Given the description of an element on the screen output the (x, y) to click on. 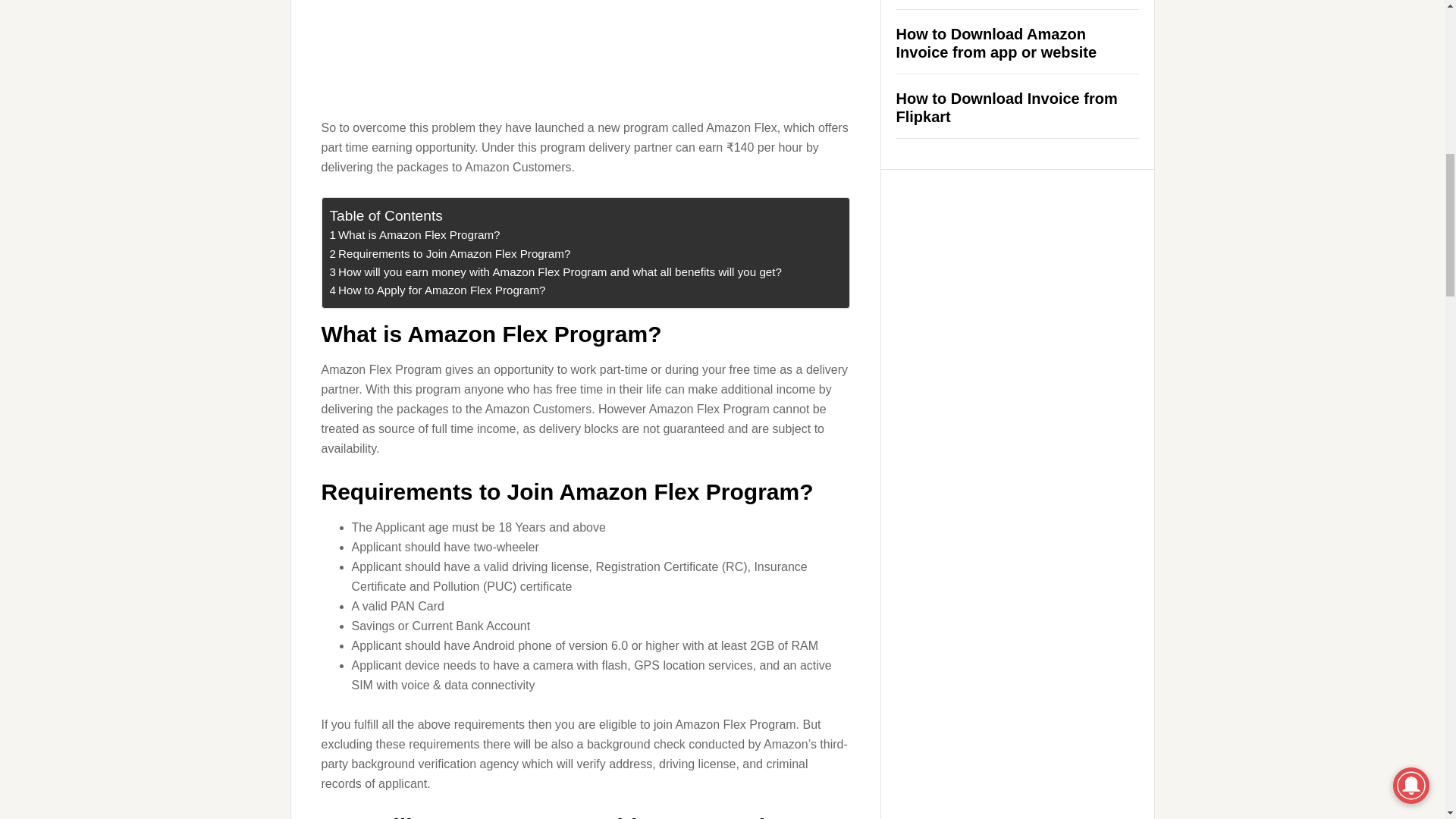
How to Download Amazon Invoice from app or website (449, 253)
Requirements to Join Amazon Flex Program? (996, 42)
How to Download Invoice from Flipkart (436, 290)
Advertisement (449, 253)
How to Apply for Amazon Flex Program? (1007, 107)
What is Amazon Flex Program? (585, 56)
